Given the description of an element on the screen output the (x, y) to click on. 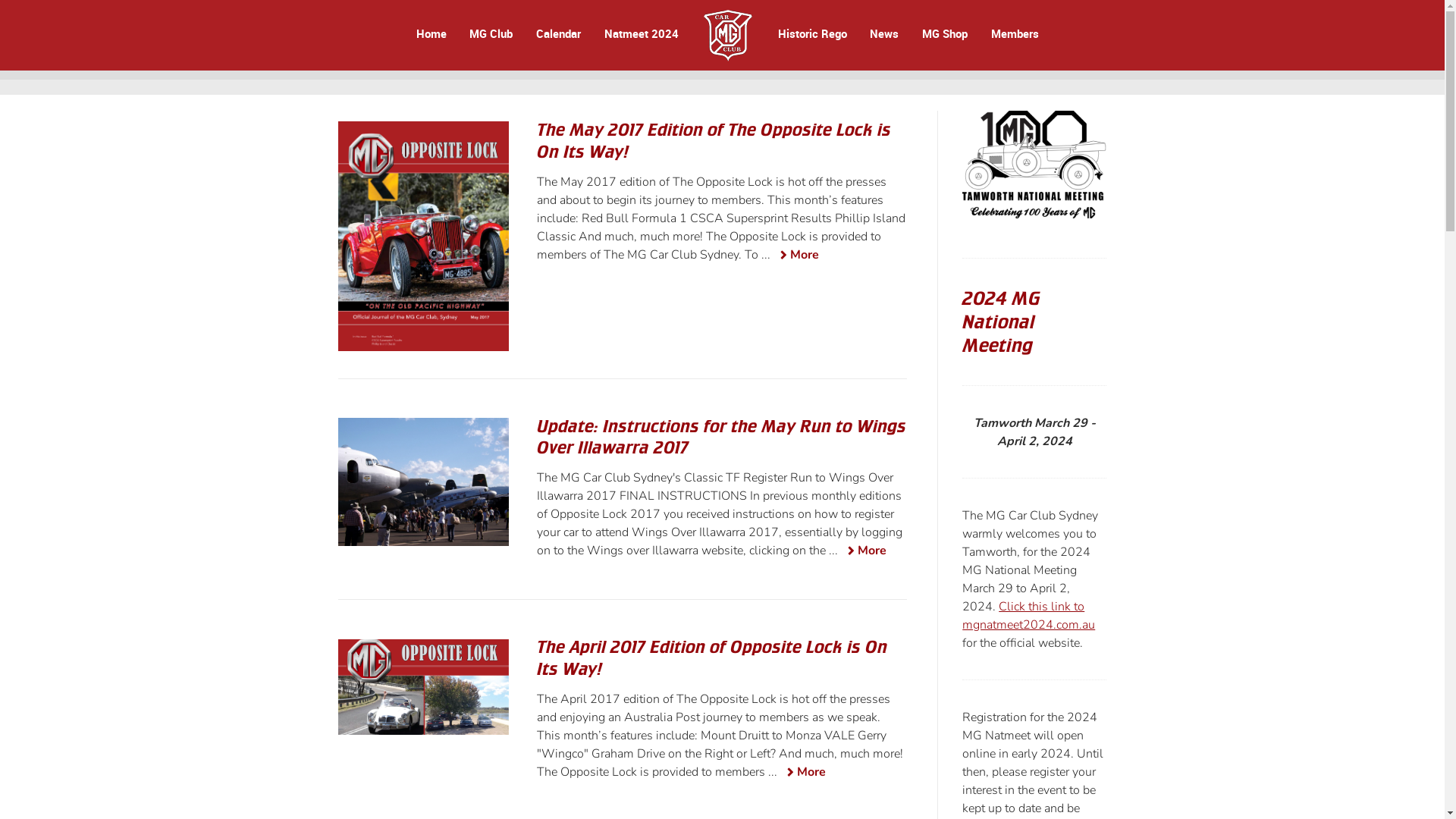
Calendar Element type: text (558, 33)
Home Element type: text (431, 33)
Members Element type: text (1013, 33)
Natmeet 2024 Element type: text (641, 33)
MG Shop Element type: text (944, 33)
News Element type: text (884, 33)
More Element type: text (796, 255)
More Element type: text (802, 772)
Historic Rego Element type: text (812, 33)
Click this link to mgnatmeet2024.com.au Element type: text (1028, 615)
The April 2017 Edition of Opposite Lock is On Its Way! Element type: text (711, 658)
More Element type: text (863, 551)
The May 2017 Edition of The Opposite Lock is On Its Way! Element type: text (713, 140)
MG Club Element type: text (490, 33)
